Given the description of an element on the screen output the (x, y) to click on. 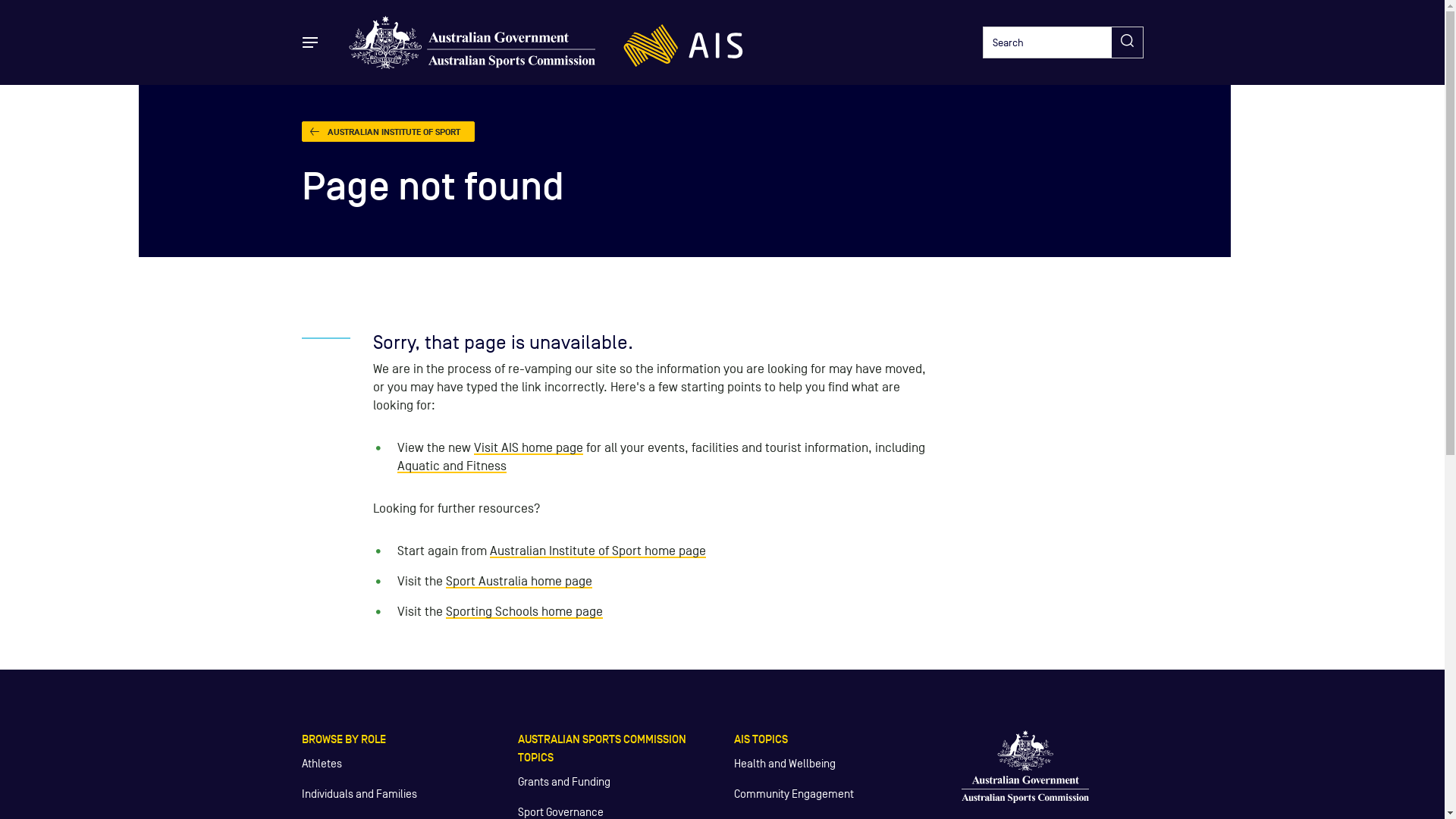
Australian Institute of Sport Element type: text (683, 42)
Community Engagement Element type: text (793, 793)
Health and Wellbeing Element type: text (784, 762)
Visit AIS home page Element type: text (528, 447)
AUSTRALIAN INSTITUTE OF SPORT Element type: text (387, 131)
Aquatic and Fitness Element type: text (451, 465)
Australian Institute of Sport home page Element type: text (597, 550)
Australian Sports Commission Element type: text (472, 42)
Athletes Element type: text (321, 762)
Sport Australia home page Element type: text (518, 581)
Skip to content Element type: text (22, 22)
Sport Governance Element type: text (559, 811)
Grants and Funding Element type: text (563, 781)
Individuals and Families Element type: text (359, 793)
Sporting Schools home page Element type: text (523, 611)
